Given the description of an element on the screen output the (x, y) to click on. 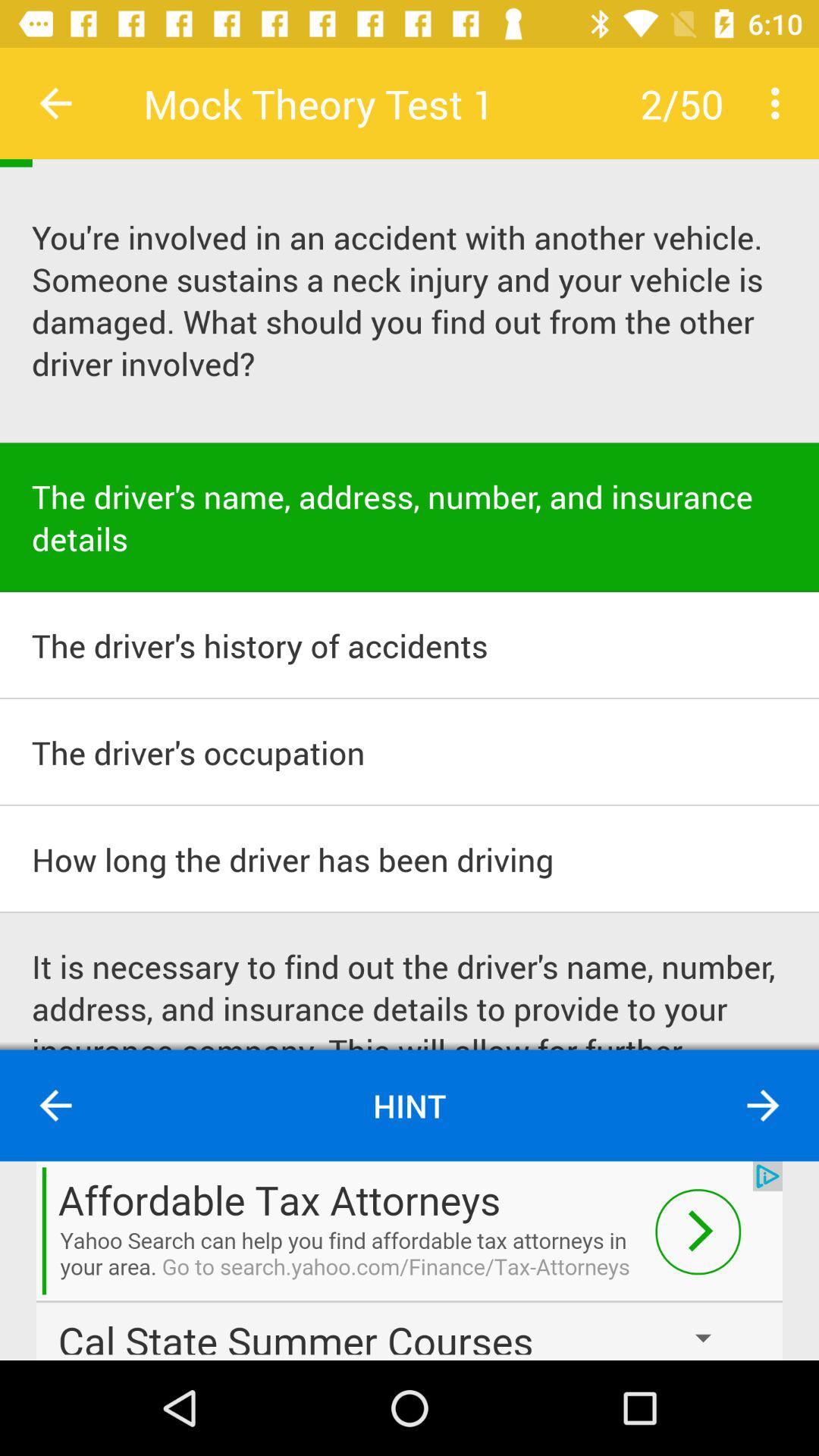
switch to next (763, 1105)
